Given the description of an element on the screen output the (x, y) to click on. 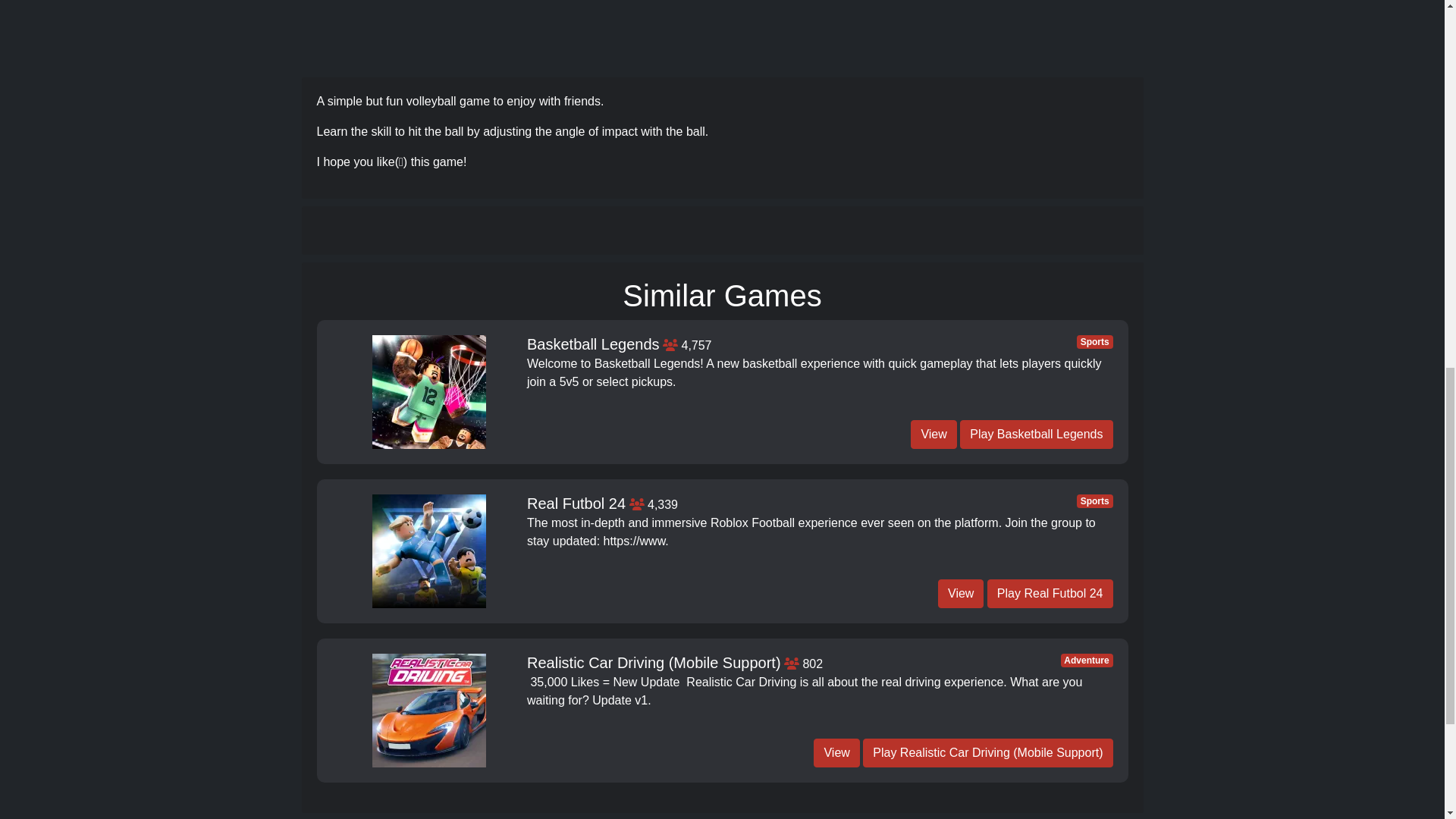
Sports (1095, 341)
Play Real Futbol 24 (1050, 593)
Sports (1095, 500)
View (933, 434)
Basketball Legends Roblox Game (429, 391)
View (960, 593)
Real Futbol 24 (576, 504)
Real Futbol 24 Roblox Game (429, 551)
Basketball Legends (593, 345)
Advertisement (721, 32)
